Given the description of an element on the screen output the (x, y) to click on. 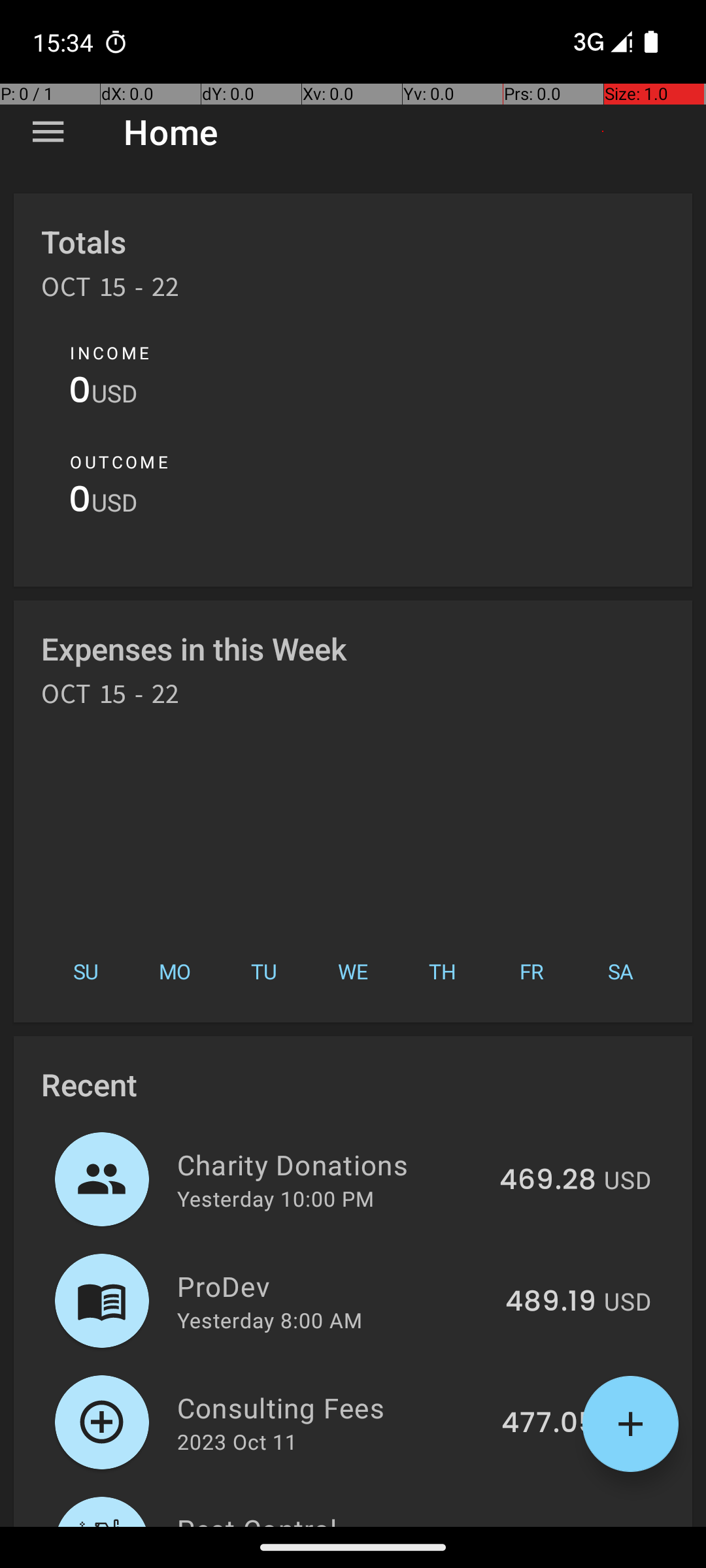
Yesterday 10:00 PM Element type: android.widget.TextView (275, 1198)
469.28 Element type: android.widget.TextView (547, 1180)
ProDev Element type: android.widget.TextView (333, 1285)
Yesterday 8:00 AM Element type: android.widget.TextView (269, 1320)
489.19 Element type: android.widget.TextView (550, 1301)
Consulting Fees Element type: android.widget.TextView (331, 1407)
477.05 Element type: android.widget.TextView (548, 1423)
348 Element type: android.widget.TextView (569, 1524)
